Given the description of an element on the screen output the (x, y) to click on. 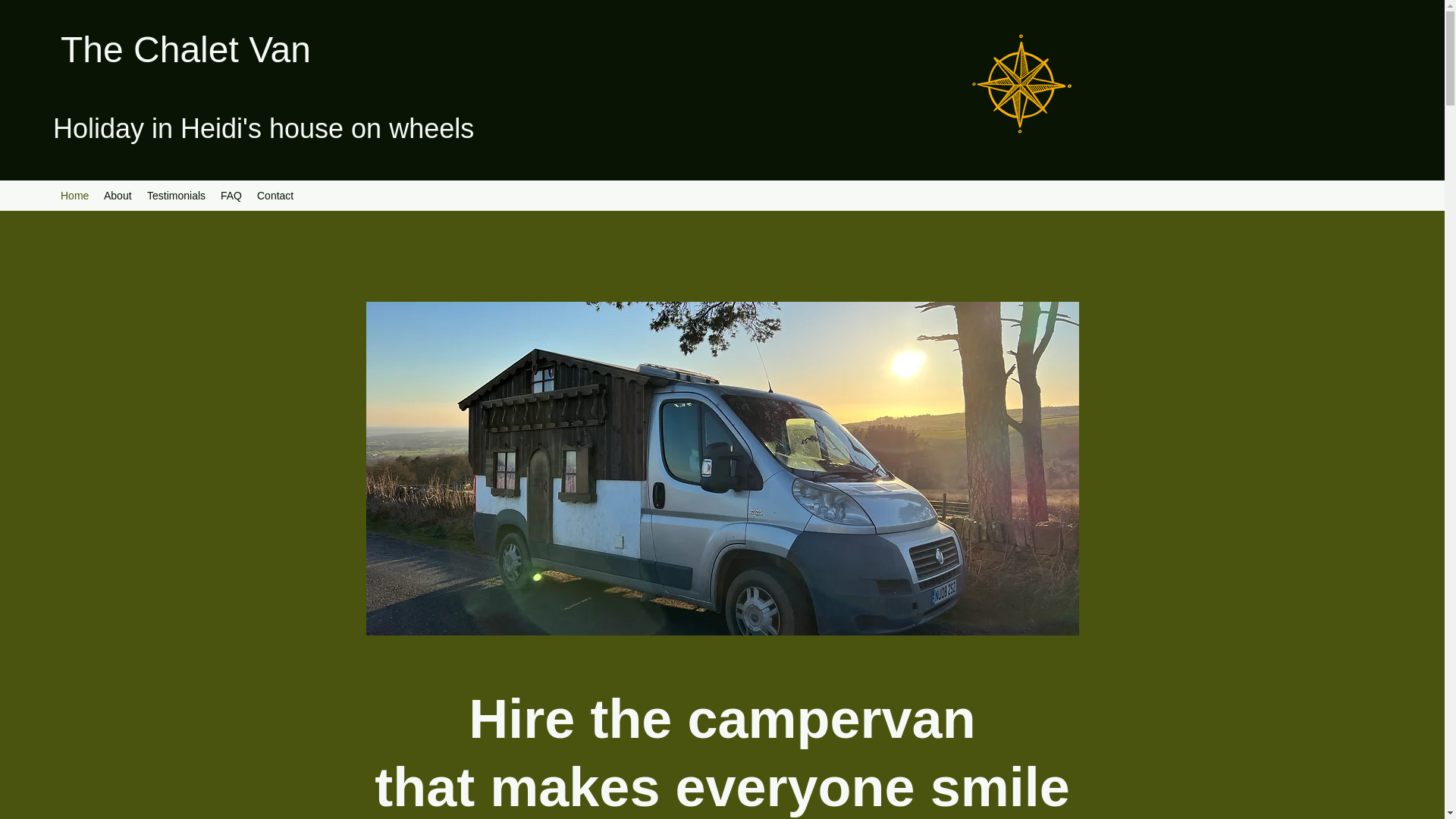
Testimonials (175, 195)
The Chalet Van (186, 49)
About (117, 195)
FAQ (230, 195)
Home (74, 195)
Contact (273, 195)
